Given the description of an element on the screen output the (x, y) to click on. 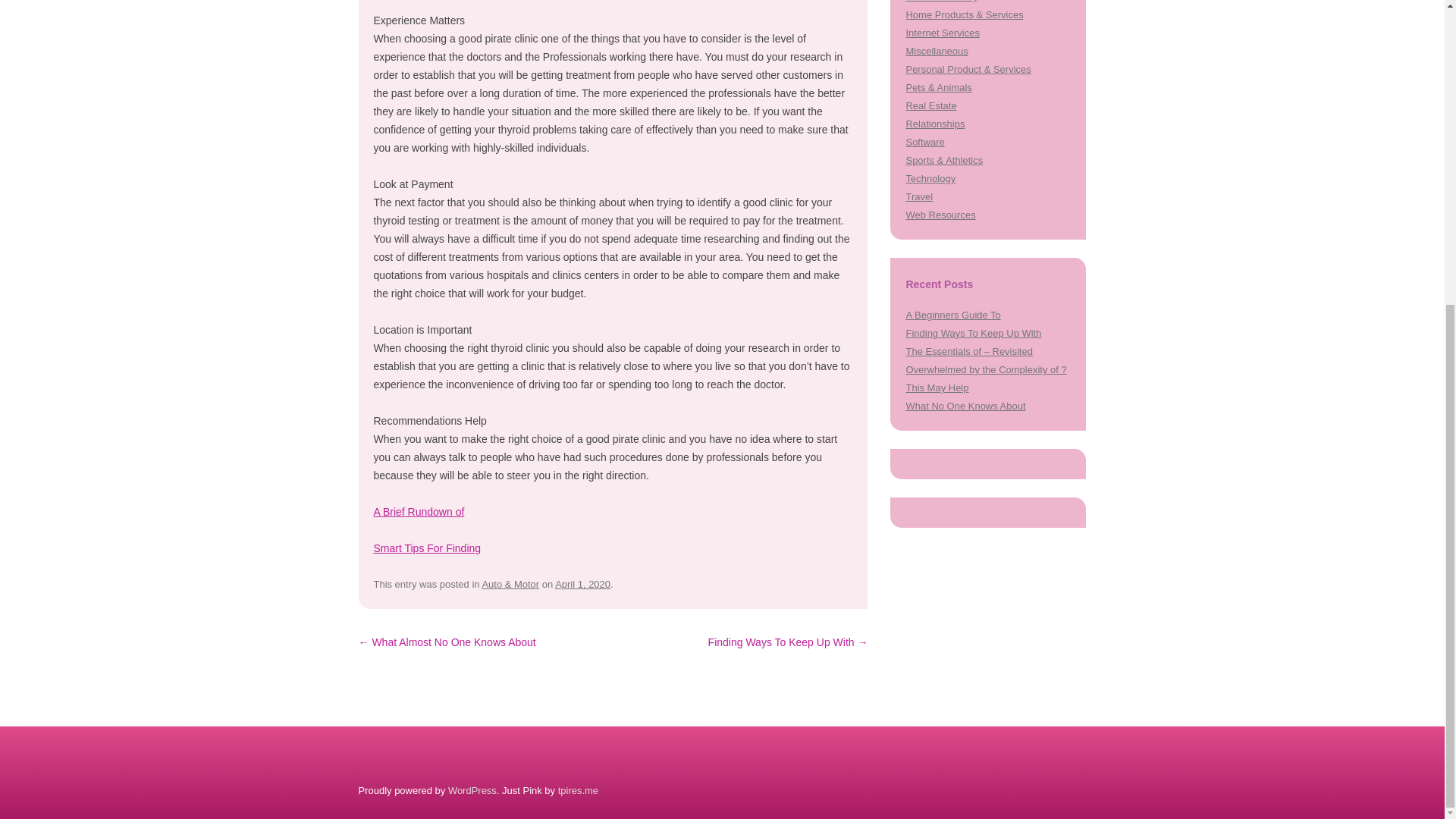
Smart Tips For Finding (426, 548)
What No One Knows About (965, 405)
Overwhelmed by the Complexity of ? This May Help (985, 378)
Technology (930, 178)
Miscellaneous (936, 50)
Finding Ways To Keep Up With (973, 333)
A Beginners Guide To (952, 315)
Semantic Personal Publishing Platform (472, 790)
A Brief Rundown of (418, 511)
Travel (919, 196)
Software (924, 142)
Web Resources (940, 214)
home and family (940, 1)
April 1, 2020 (582, 583)
7:49 am (582, 583)
